Given the description of an element on the screen output the (x, y) to click on. 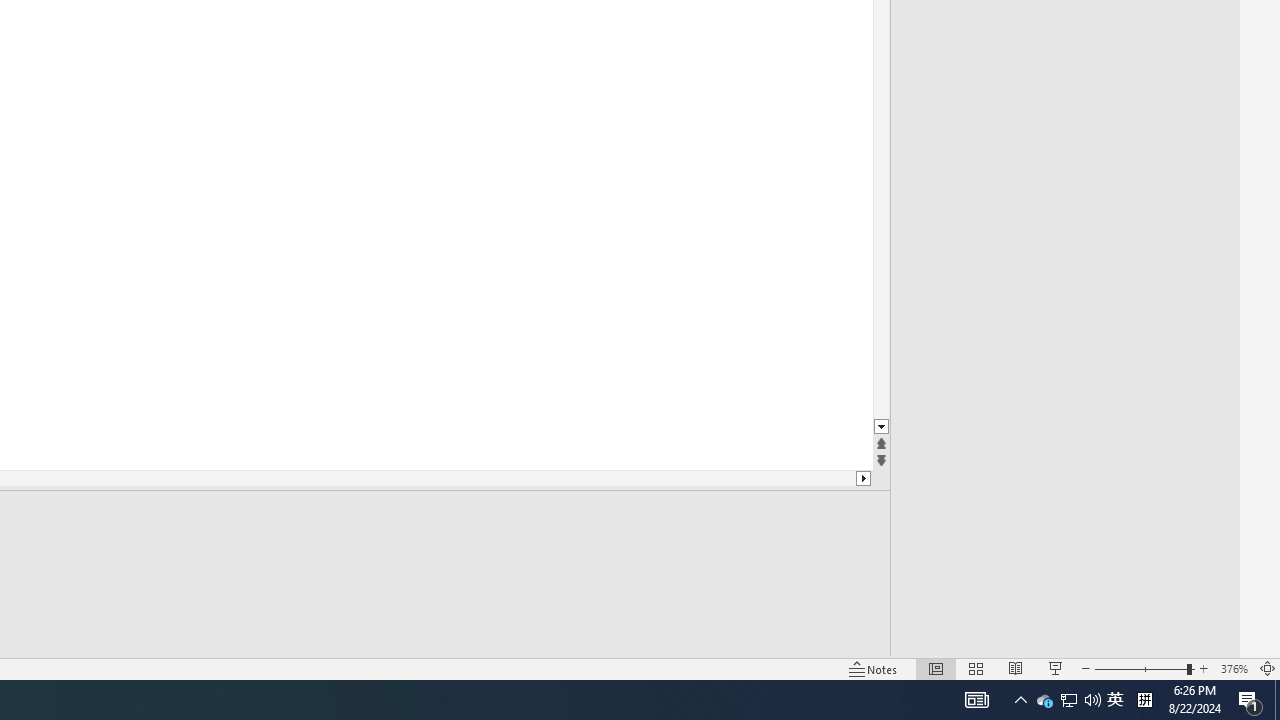
Zoom 376% (1234, 668)
